Given the description of an element on the screen output the (x, y) to click on. 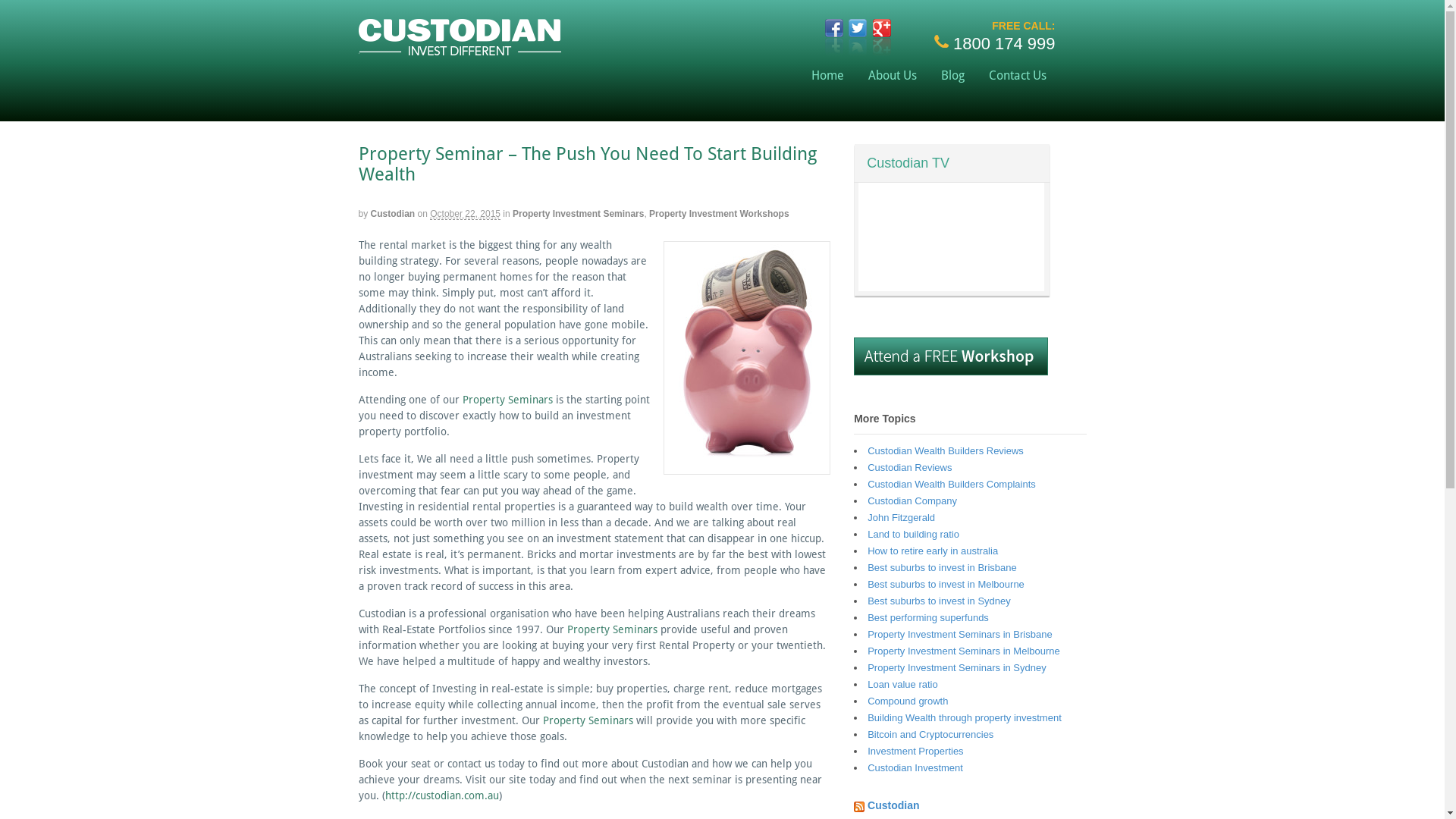
About Us Element type: text (892, 75)
Custodian Element type: text (893, 805)
How to retire early in australia Element type: text (932, 550)
Property Investment Seminars in Sydney Element type: text (956, 667)
Property Investment Seminars in Melbourne Element type: text (963, 650)
Property Seminars Element type: text (612, 629)
Investment Properties Element type: text (915, 750)
Best performing superfunds Element type: text (927, 617)
Property Investment Seminars Element type: text (577, 213)
Custodian Wealth Builders Complaints Element type: text (951, 483)
Best suburbs to invest in Sydney Element type: text (938, 600)
Bitcoin and Cryptocurrencies Element type: text (930, 734)
Custodian Investment Element type: text (915, 767)
Best suburbs to invest in Brisbane Element type: text (941, 567)
Custodian Reviews Element type: text (909, 467)
Land to building ratio Element type: text (913, 533)
Property Investment Workshops Element type: text (719, 213)
Property Seminars Element type: text (507, 399)
Best suburbs to invest in Melbourne Element type: text (945, 583)
Contact Us Element type: text (1017, 75)
Compound growth Element type: text (907, 700)
Property Investment Seminars in Brisbane Element type: text (959, 634)
Custodian Company Element type: text (912, 500)
Custodian Wealth Builders Reviews Element type: text (945, 450)
John Fitzgerald Element type: text (901, 517)
http://custodian.com.au Element type: text (441, 795)
Custodian Element type: text (392, 213)
Loan value ratio Element type: text (902, 684)
Property Seminars Element type: text (587, 720)
Property Investment Element type: hover (458, 48)
Blog Element type: text (952, 75)
Home Element type: text (827, 75)
Building Wealth through property investment Element type: text (964, 717)
